Given the description of an element on the screen output the (x, y) to click on. 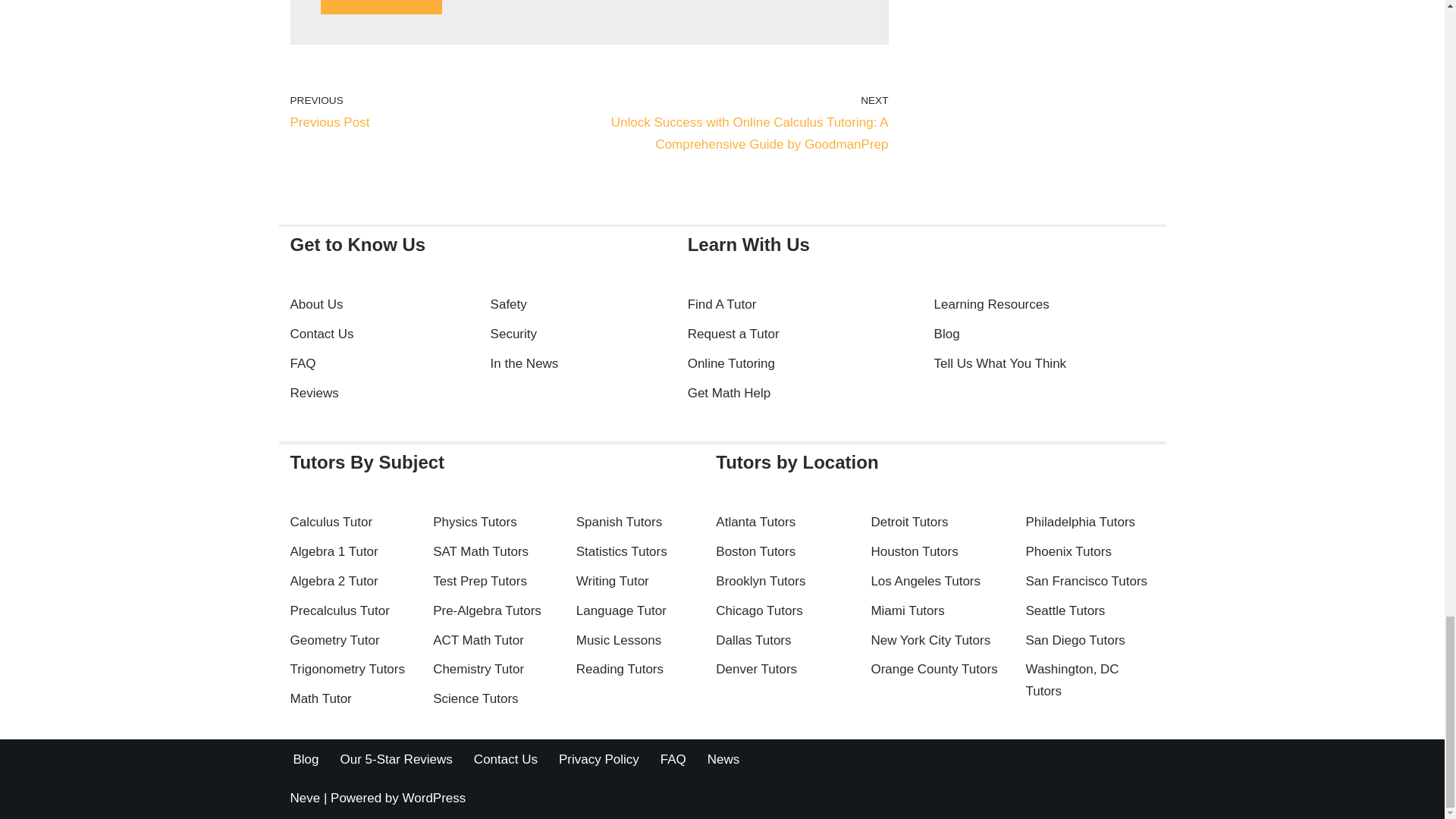
Contact Us (321, 333)
Blog (946, 333)
About Us (434, 112)
Post Comment (315, 304)
Learning Resources (381, 7)
Post Comment (991, 304)
Get Math Help (381, 7)
Reviews (729, 392)
FAQ (313, 392)
